Given the description of an element on the screen output the (x, y) to click on. 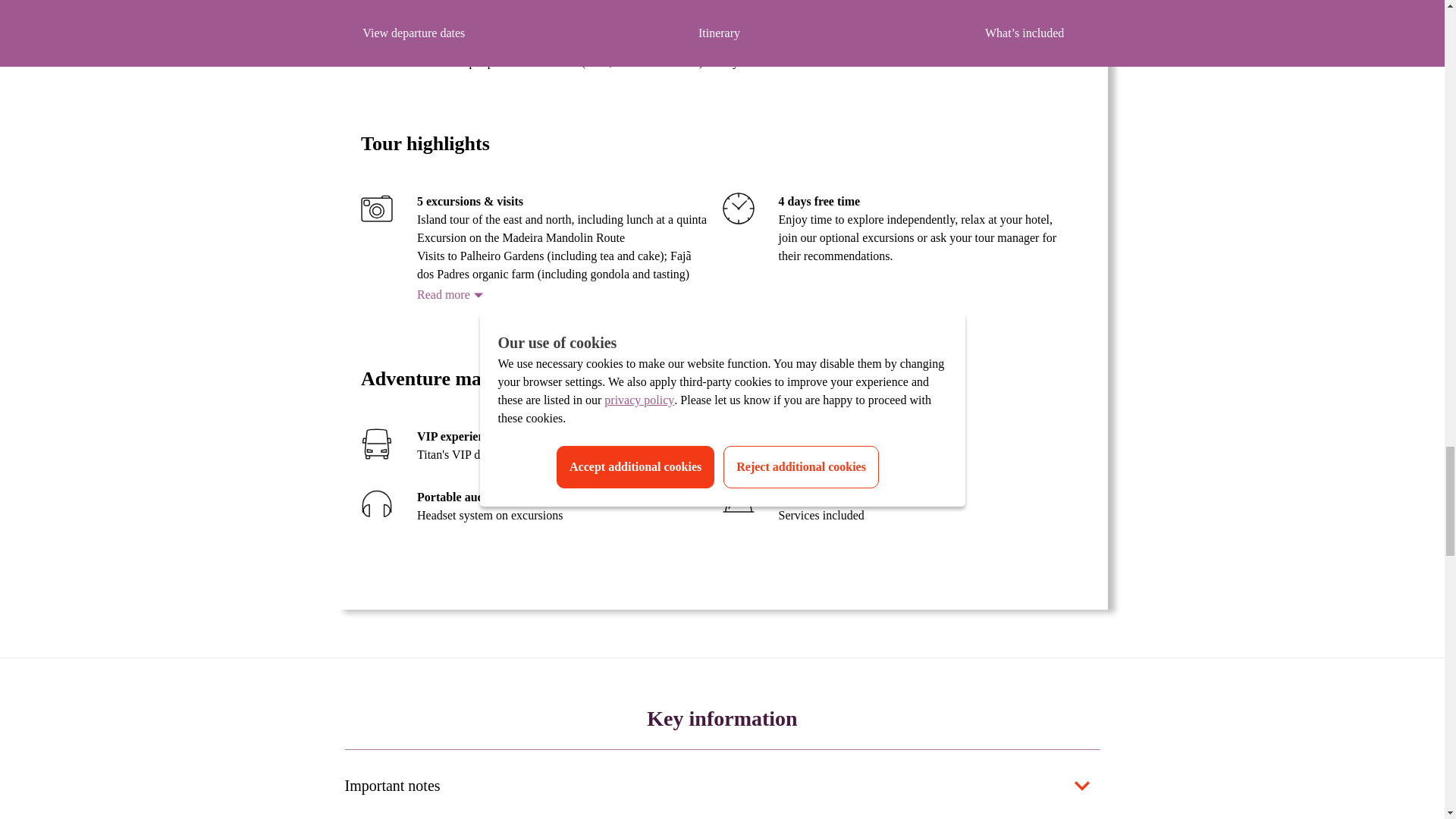
Read more (451, 294)
